Given the description of an element on the screen output the (x, y) to click on. 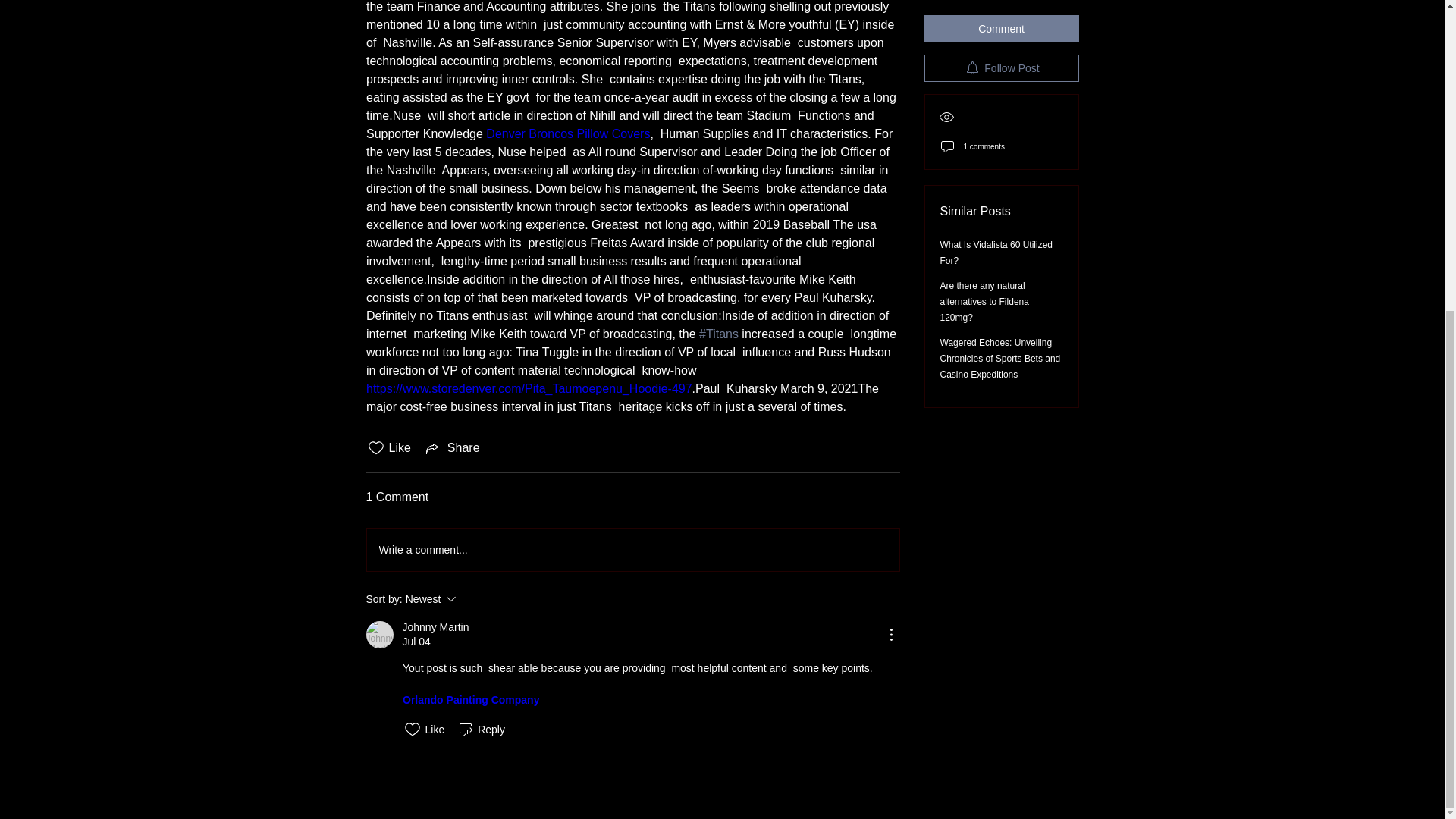
Johnny Martin (379, 634)
Reply (481, 729)
Write a comment... (632, 549)
Johnny Martin (434, 626)
Share (471, 598)
Denver Broncos Pillow Covers (451, 447)
Orlando Painting Company (567, 133)
